Given the description of an element on the screen output the (x, y) to click on. 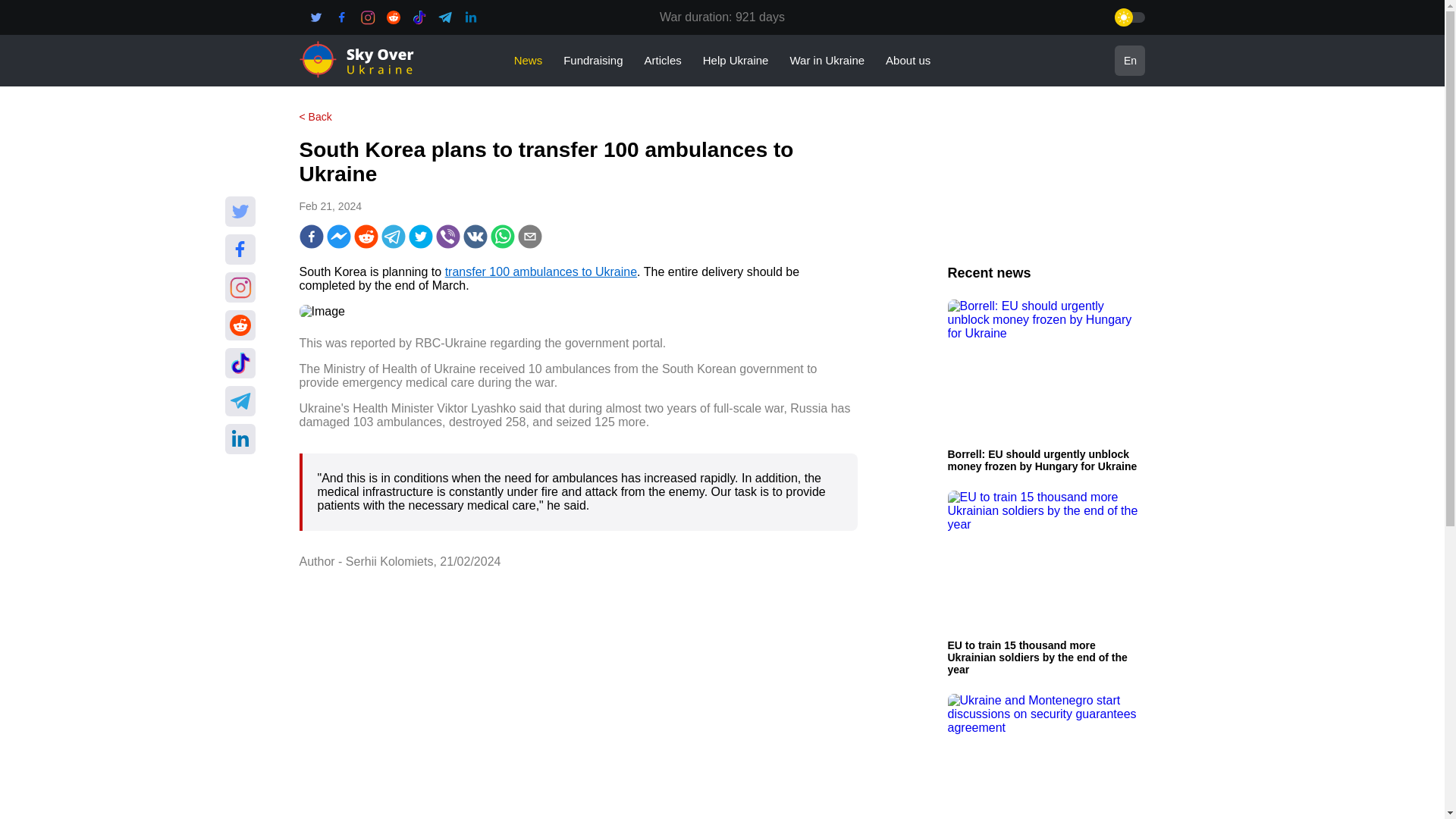
About us (907, 60)
Fundraising (593, 60)
Help Ukraine (735, 60)
War in Ukraine (826, 60)
Articles (663, 60)
News (528, 60)
